Given the description of an element on the screen output the (x, y) to click on. 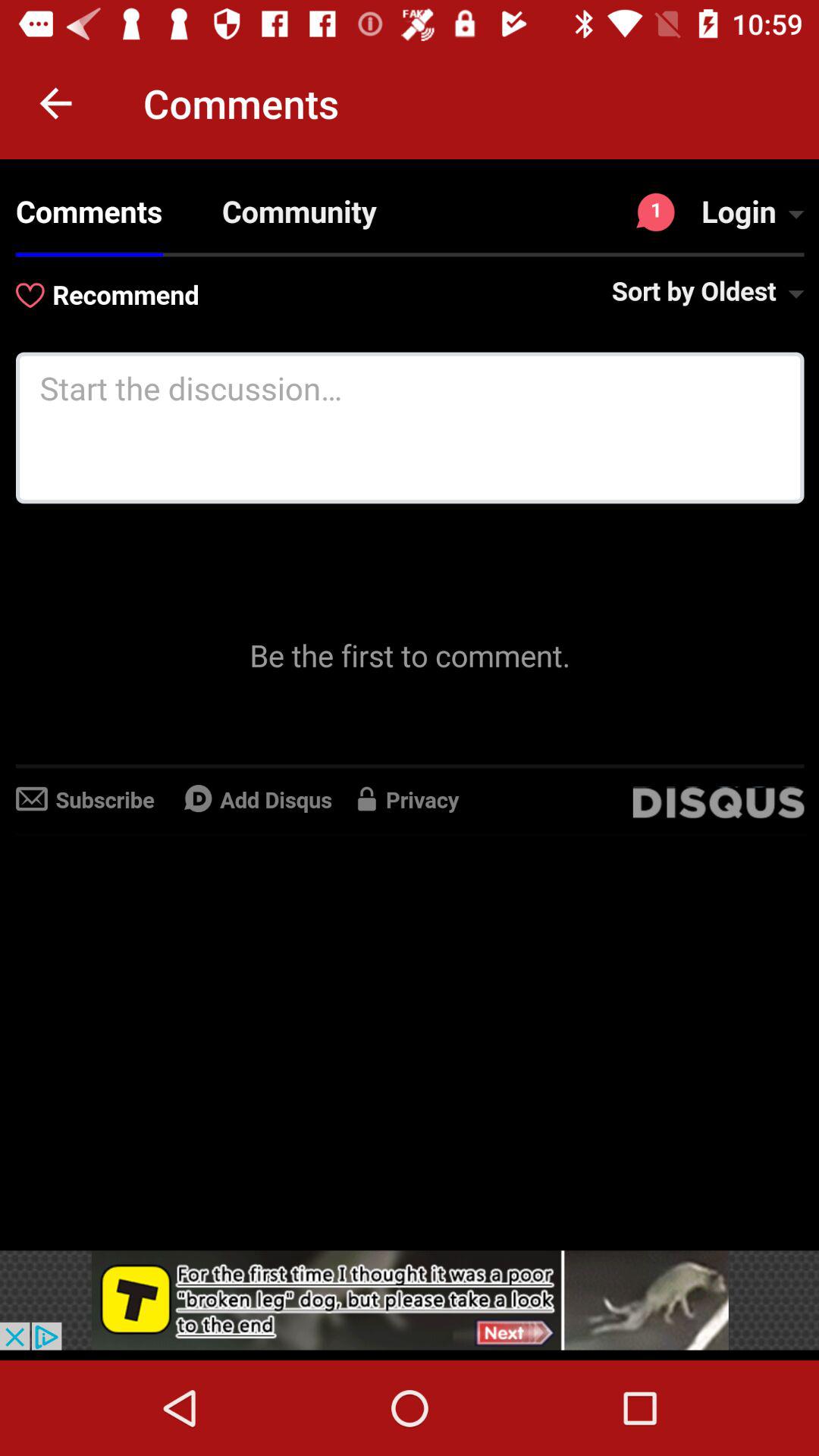
advertisement for pets (409, 1300)
